Given the description of an element on the screen output the (x, y) to click on. 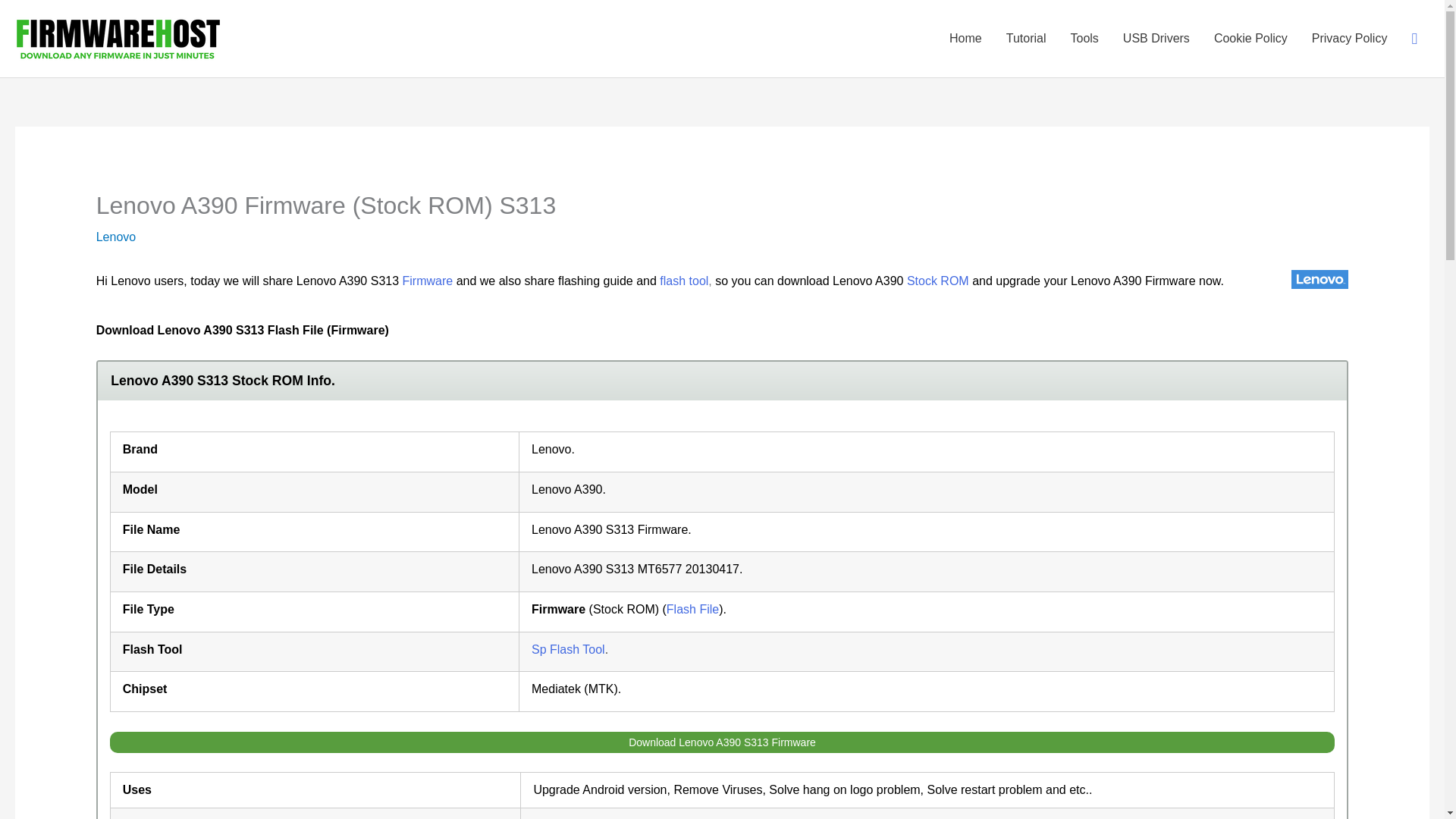
Privacy Policy (1349, 38)
Stock ROM (938, 280)
USB Drivers (1156, 38)
Lenovo (116, 236)
Flash File (692, 608)
flash tool (683, 280)
Cookie Policy (1251, 38)
Sp Flash Tool (568, 649)
Download Lenovo A390 S313 Firmware (722, 742)
Firmware (427, 280)
